Given the description of an element on the screen output the (x, y) to click on. 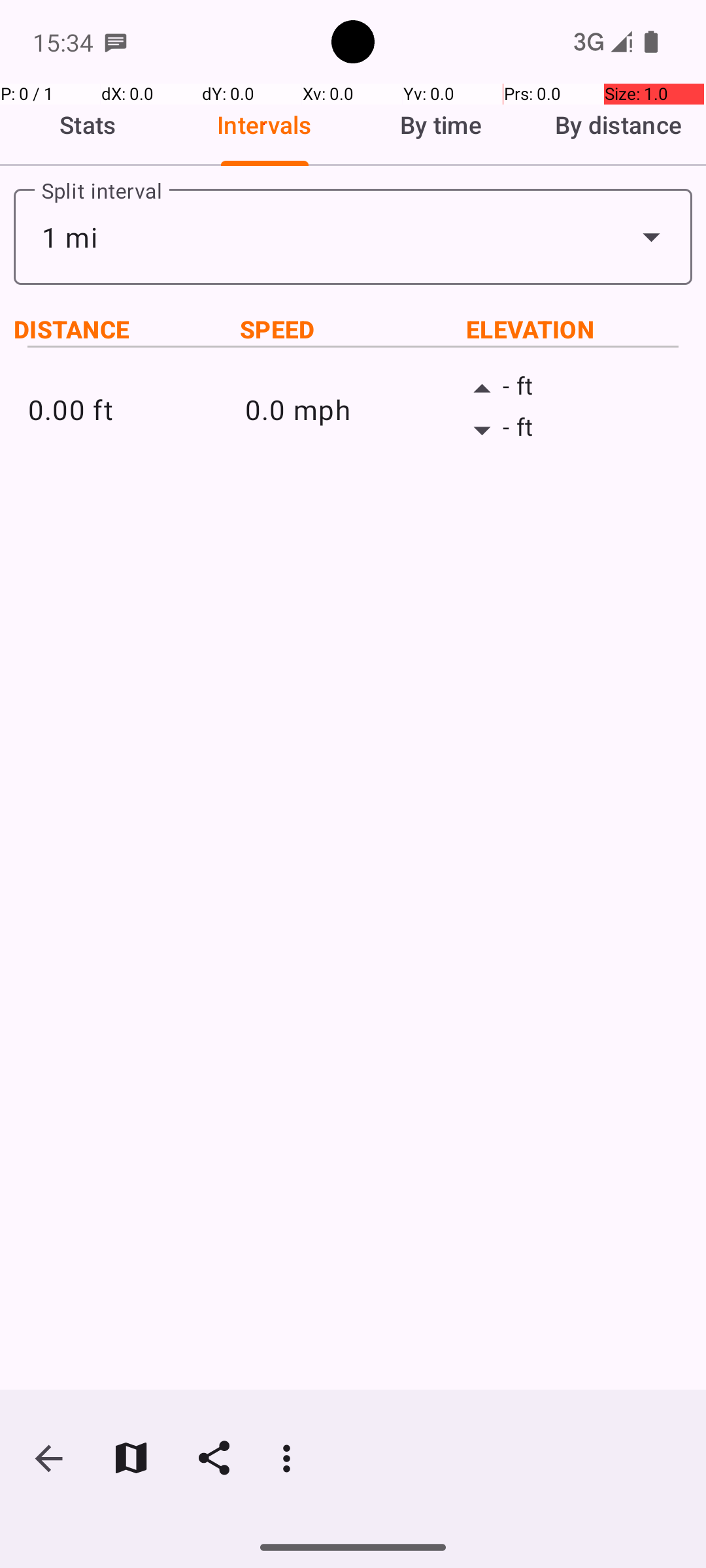
0.00 ft Element type: android.widget.TextView (135, 408)
0.0 mph Element type: android.widget.TextView (352, 408)
- ft Element type: android.widget.TextView (569, 388)
